Given the description of an element on the screen output the (x, y) to click on. 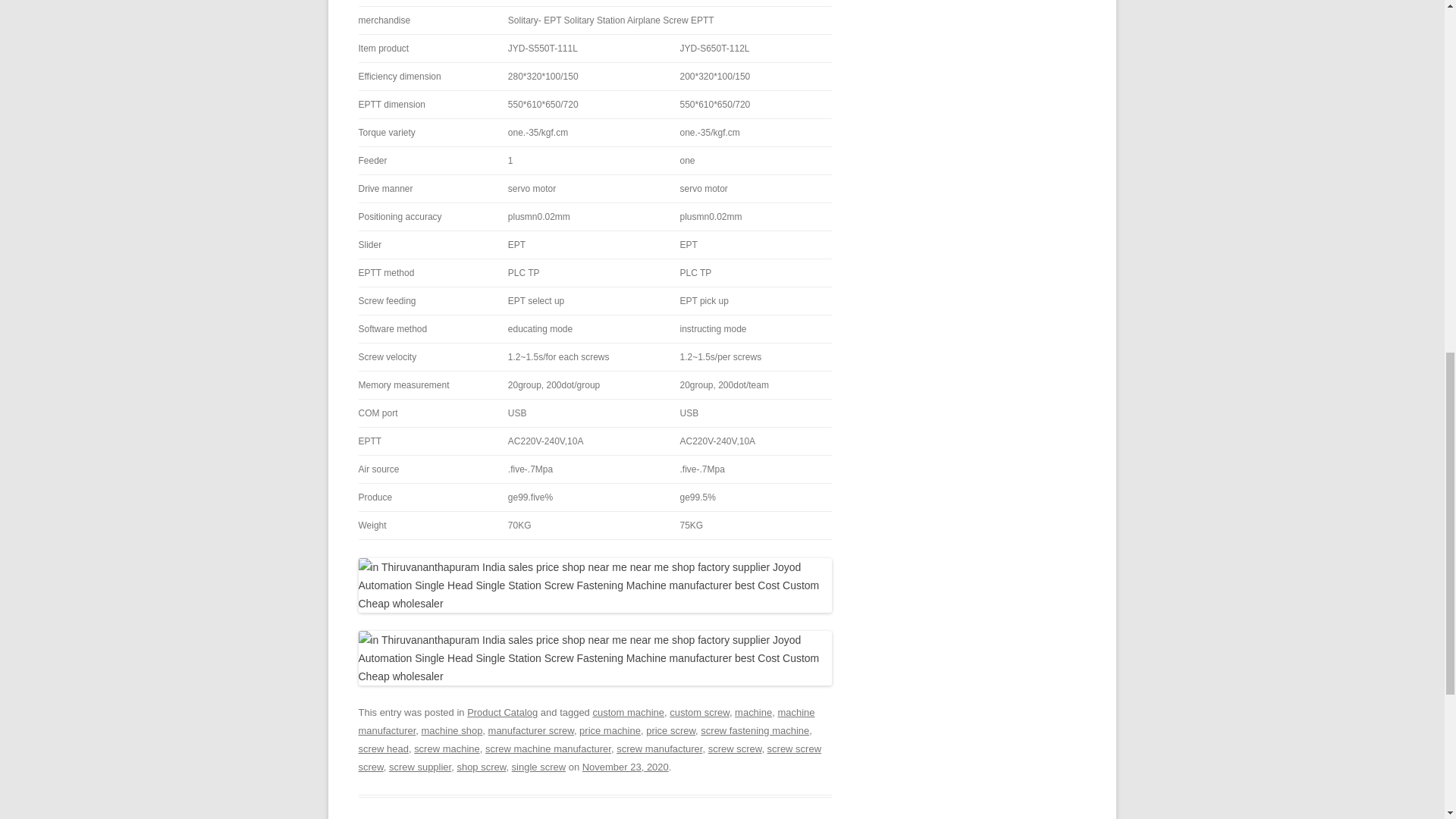
screw manufacturer (658, 748)
price machine (609, 730)
screw supplier (419, 767)
screw head (382, 748)
Product Catalog (502, 712)
screw screw (734, 748)
custom screw (699, 712)
screw screw screw (589, 757)
machine manufacturer (585, 721)
machine shop (452, 730)
screw machine manufacturer (547, 748)
manufacturer screw (530, 730)
custom machine (627, 712)
machine (753, 712)
